Given the description of an element on the screen output the (x, y) to click on. 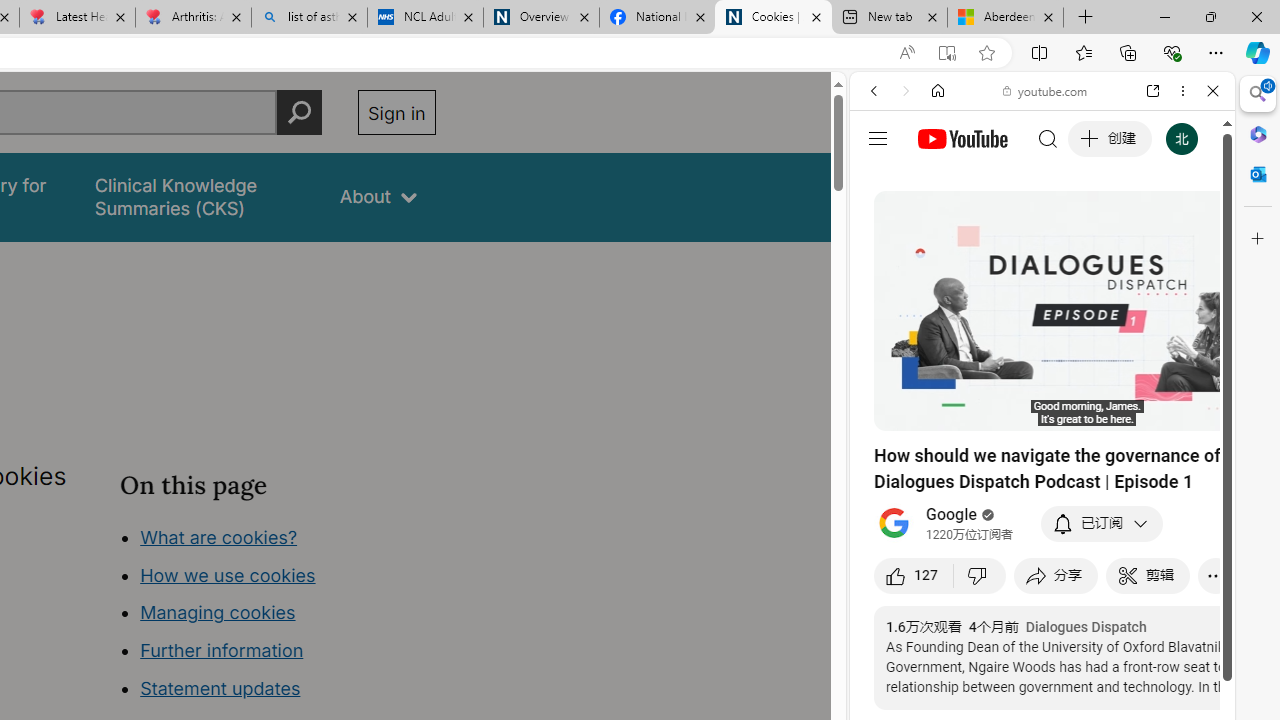
youtube.com (1046, 90)
Perform search (299, 112)
Cookies | About | NICE (772, 17)
Sign in (396, 112)
Managing cookies (217, 612)
Show More Music (1164, 546)
Google (1042, 494)
Music (1042, 543)
Aberdeen, Hong Kong SAR hourly forecast | Microsoft Weather (1005, 17)
Close Customize pane (1258, 239)
Arthritis: Ask Health Professionals (192, 17)
